Given the description of an element on the screen output the (x, y) to click on. 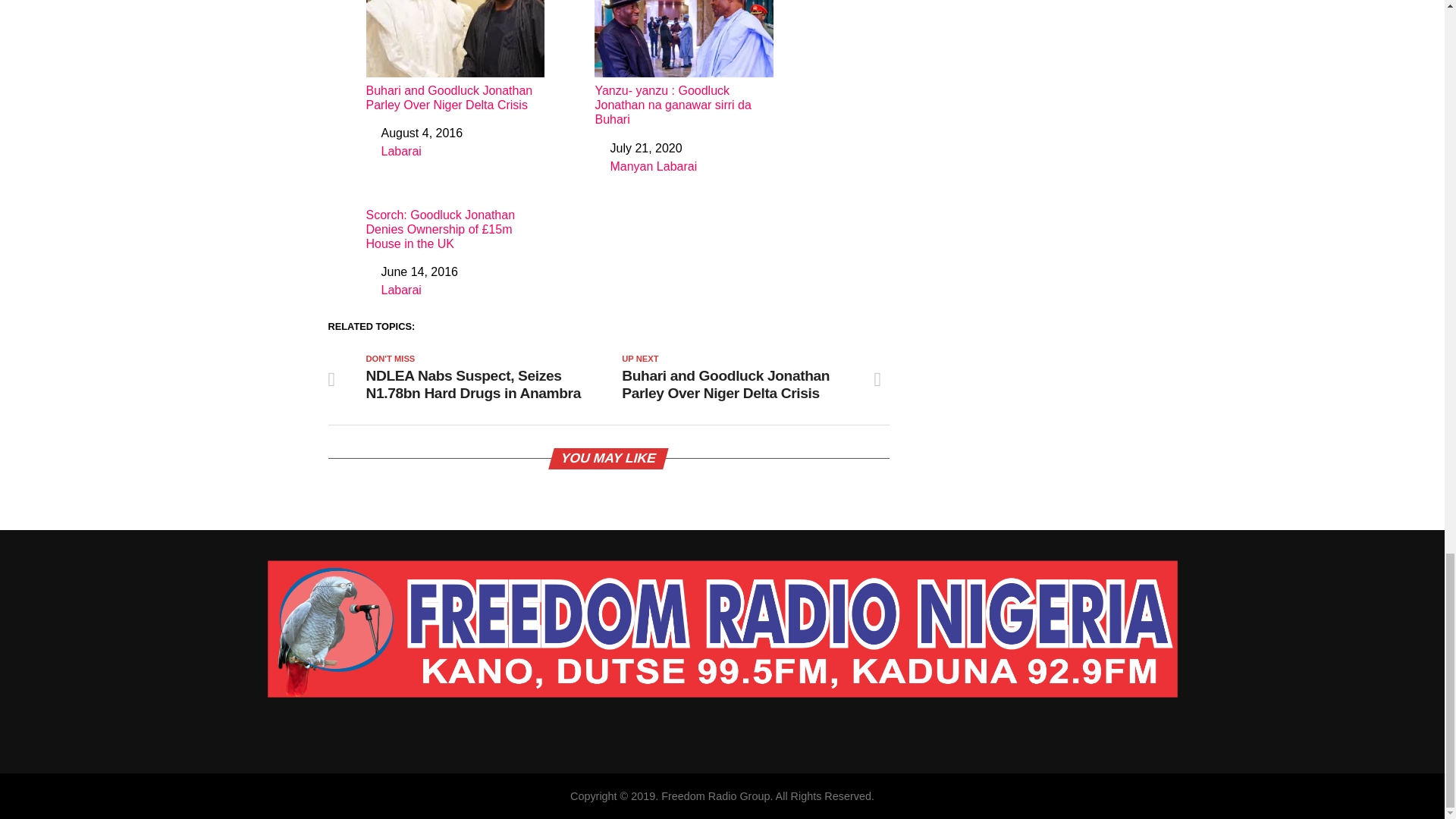
Yanzu- yanzu : Goodluck Jonathan na ganawar sirri da Buhari (683, 63)
Labarai (400, 151)
Buhari and Goodluck Jonathan Parley Over Niger Delta Crisis (454, 56)
